Given the description of an element on the screen output the (x, y) to click on. 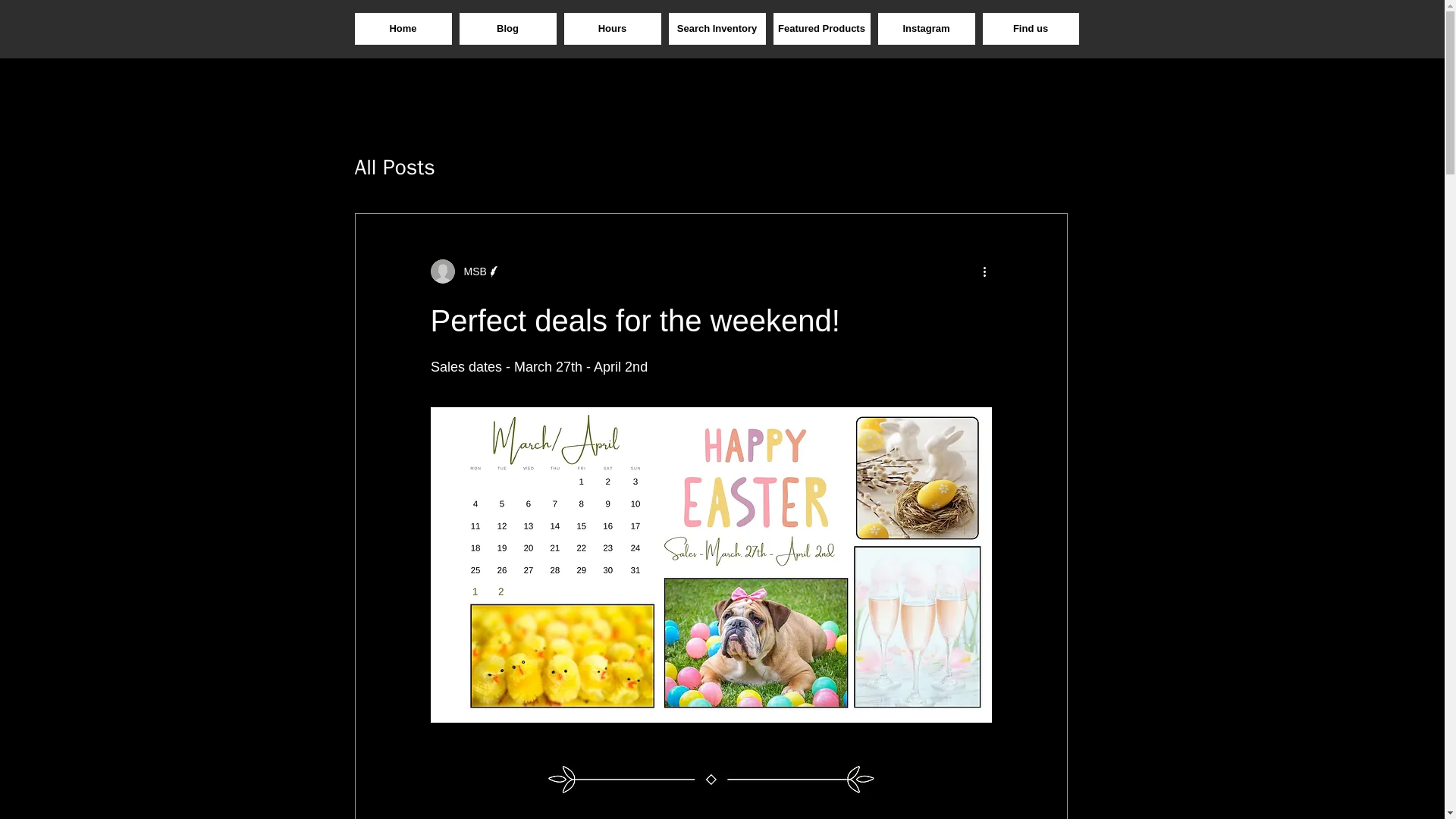
MSB (465, 271)
Home (403, 29)
Featured Products (821, 29)
Blog (508, 29)
Instagram (926, 29)
All Posts (395, 167)
MSB (470, 271)
Find us (1030, 29)
Hours (612, 29)
Search Inventory (716, 29)
